Given the description of an element on the screen output the (x, y) to click on. 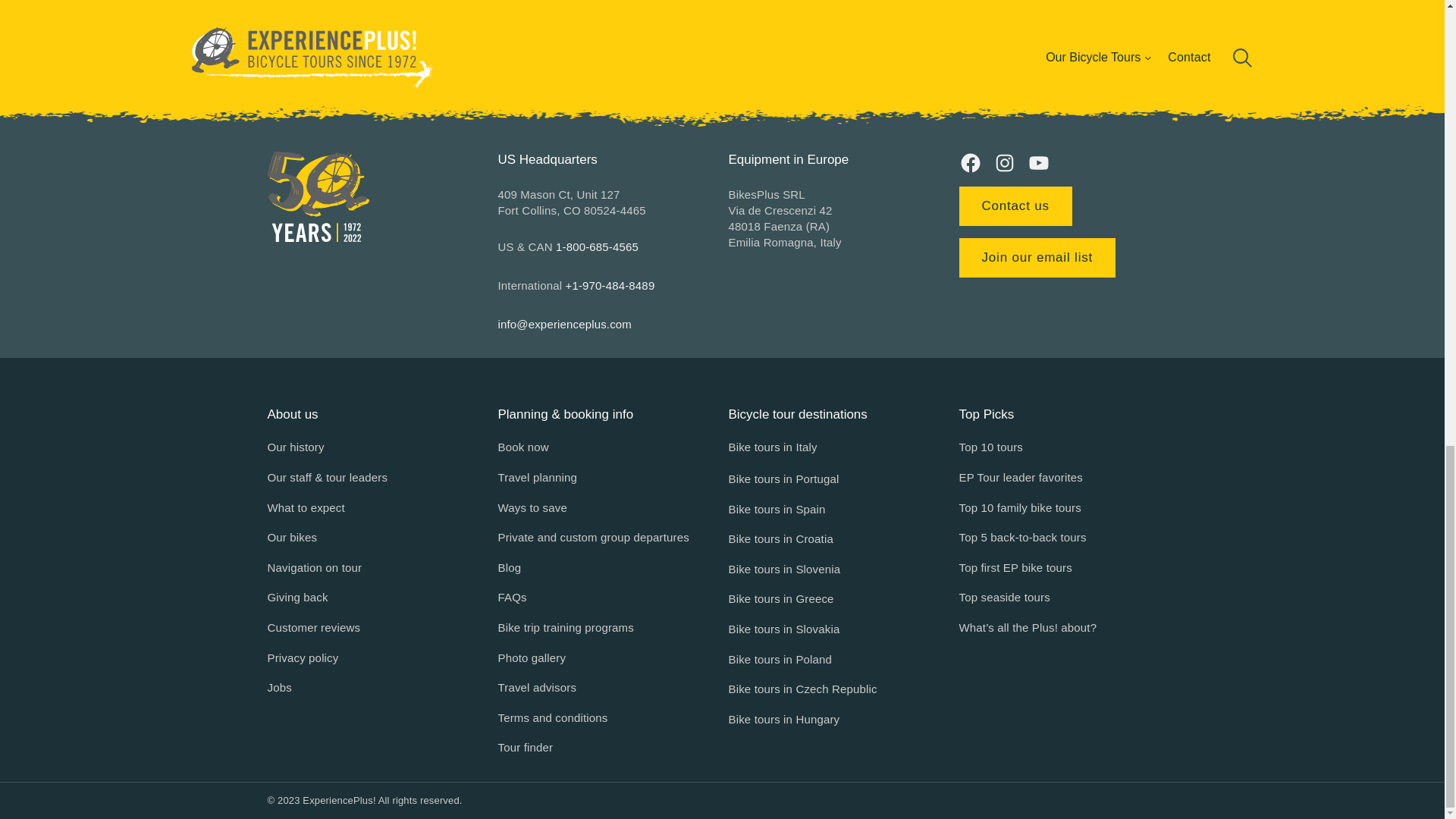
Customer reviews (312, 628)
Join our email list (1036, 257)
Facebook (969, 162)
What to expect (304, 507)
Giving back (296, 597)
YouTube (1037, 162)
Our bikes (291, 537)
Navigation on tour (313, 567)
Our history (294, 447)
1-800-685-4565 (597, 246)
